Given the description of an element on the screen output the (x, y) to click on. 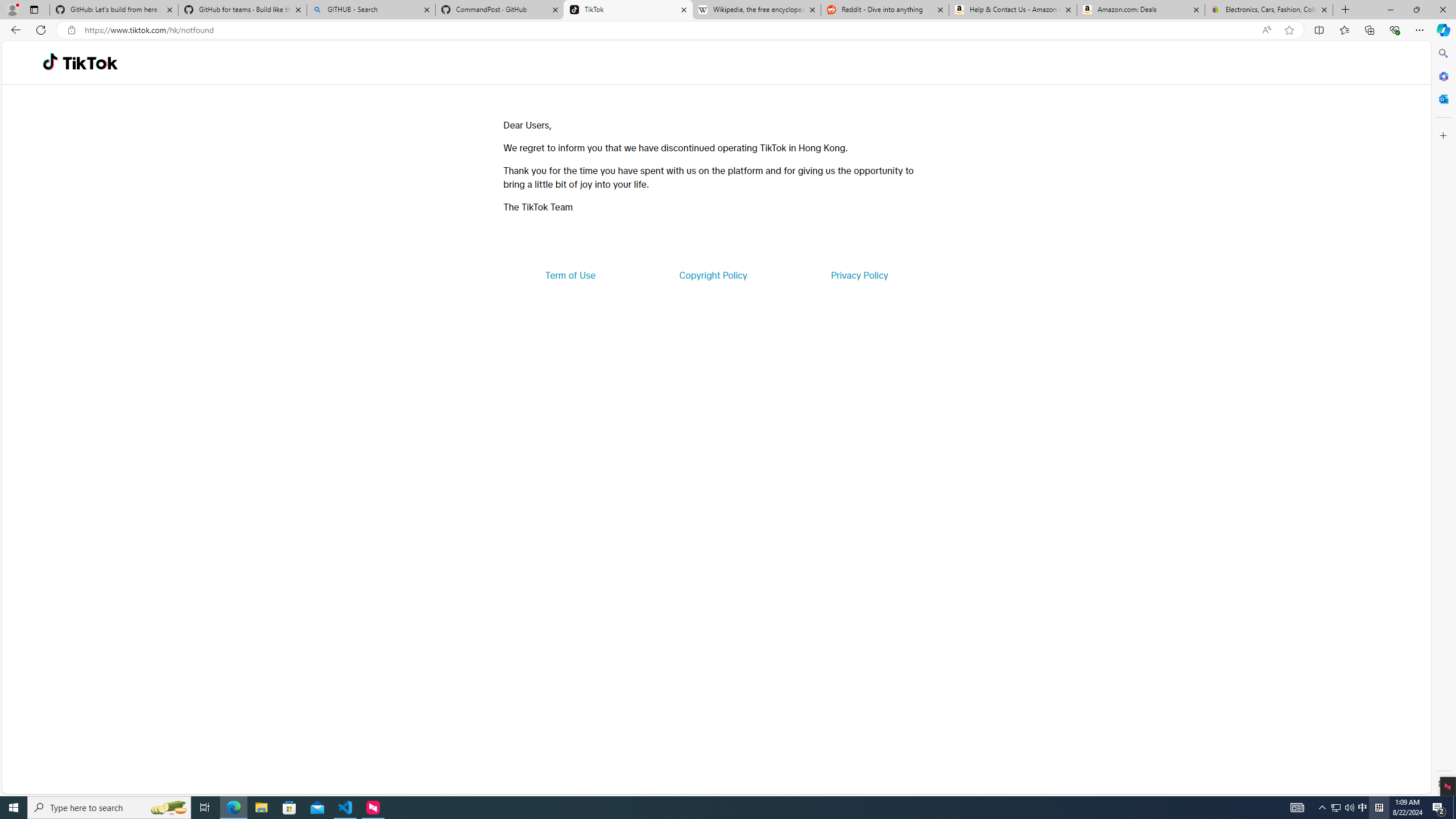
GITHUB - Search (370, 9)
